Given the description of an element on the screen output the (x, y) to click on. 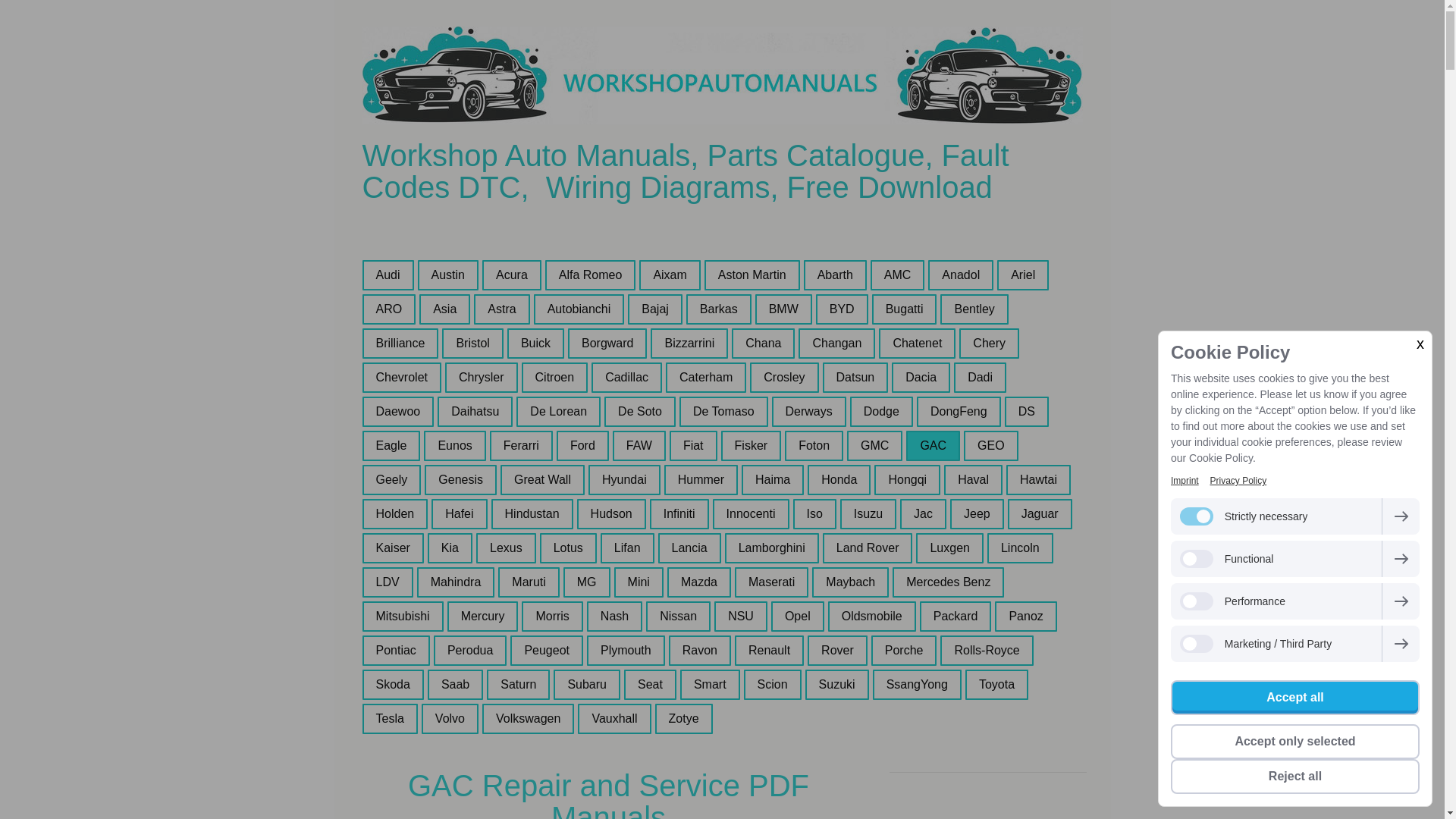
Chrysler (481, 377)
Astra (501, 308)
Brilliance (401, 343)
Dadi (979, 377)
Buick (535, 343)
Ariel (1022, 275)
Dacia (921, 377)
Alfa Romeo (590, 275)
Bristol (472, 343)
Aixam (669, 275)
Borgward (607, 343)
Anadol (960, 275)
Changan (836, 343)
AMC (897, 275)
